Given the description of an element on the screen output the (x, y) to click on. 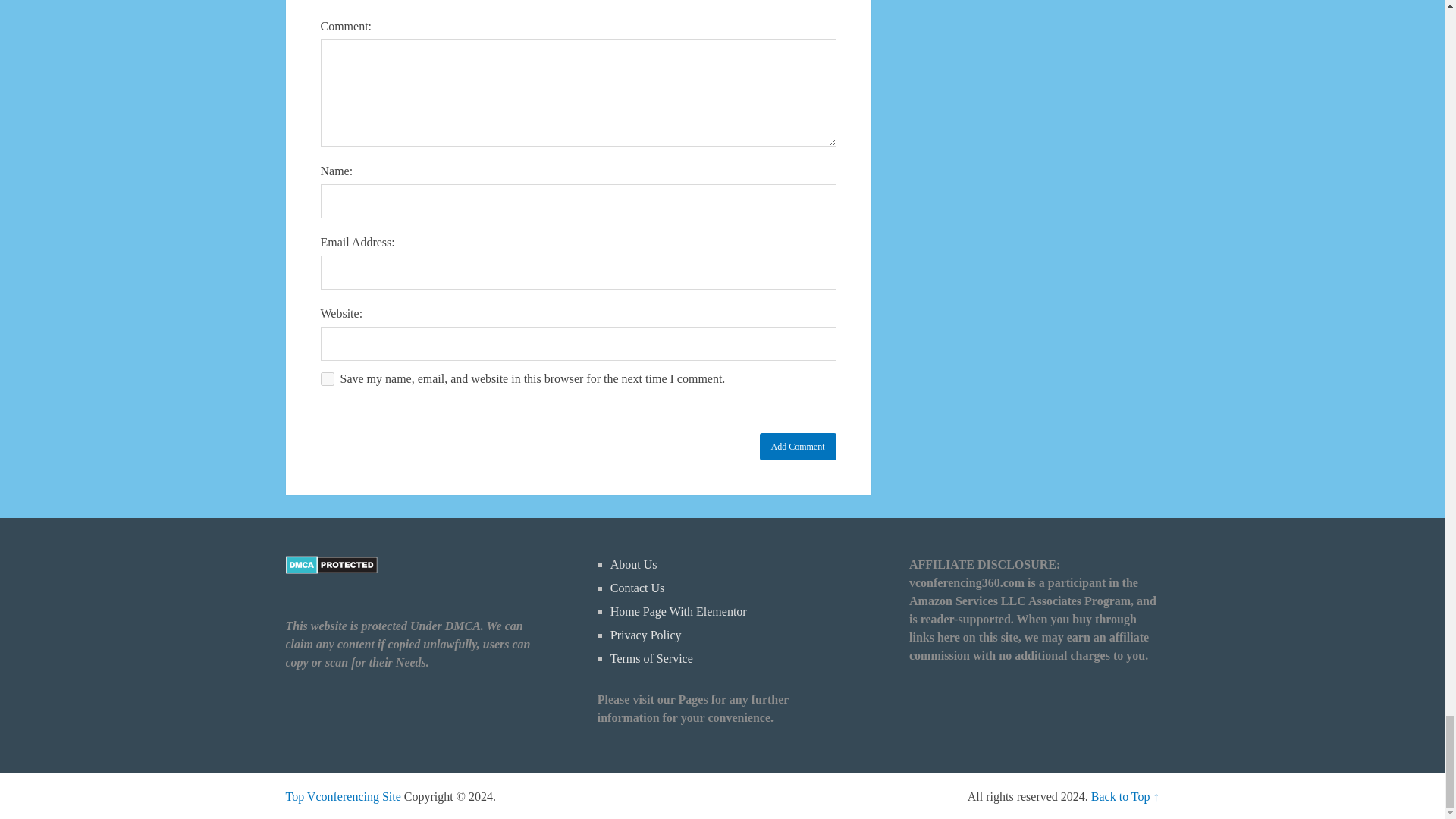
yes (326, 378)
Add Comment (797, 446)
